Given the description of an element on the screen output the (x, y) to click on. 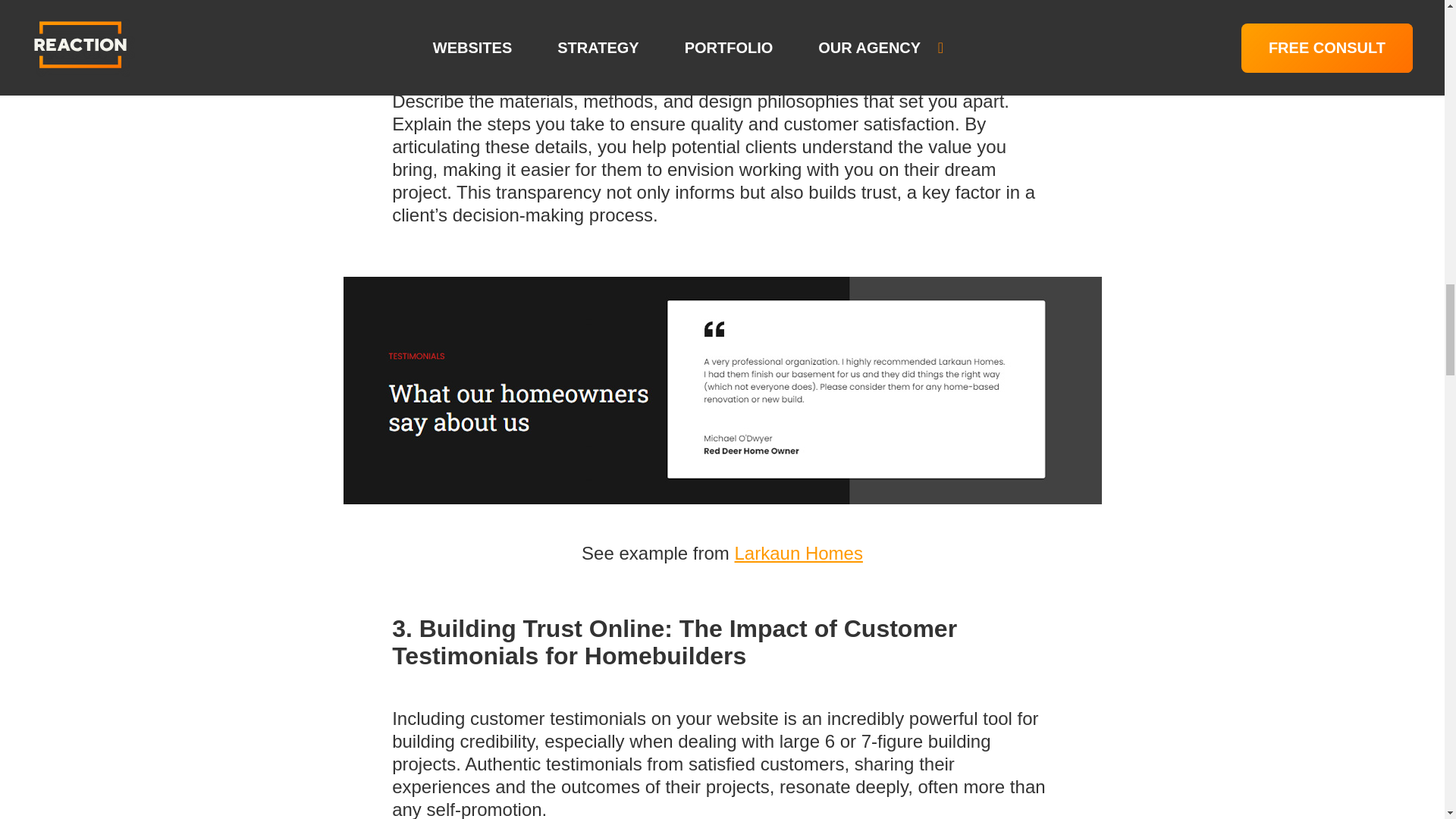
Larkaun Homes (797, 552)
